Given the description of an element on the screen output the (x, y) to click on. 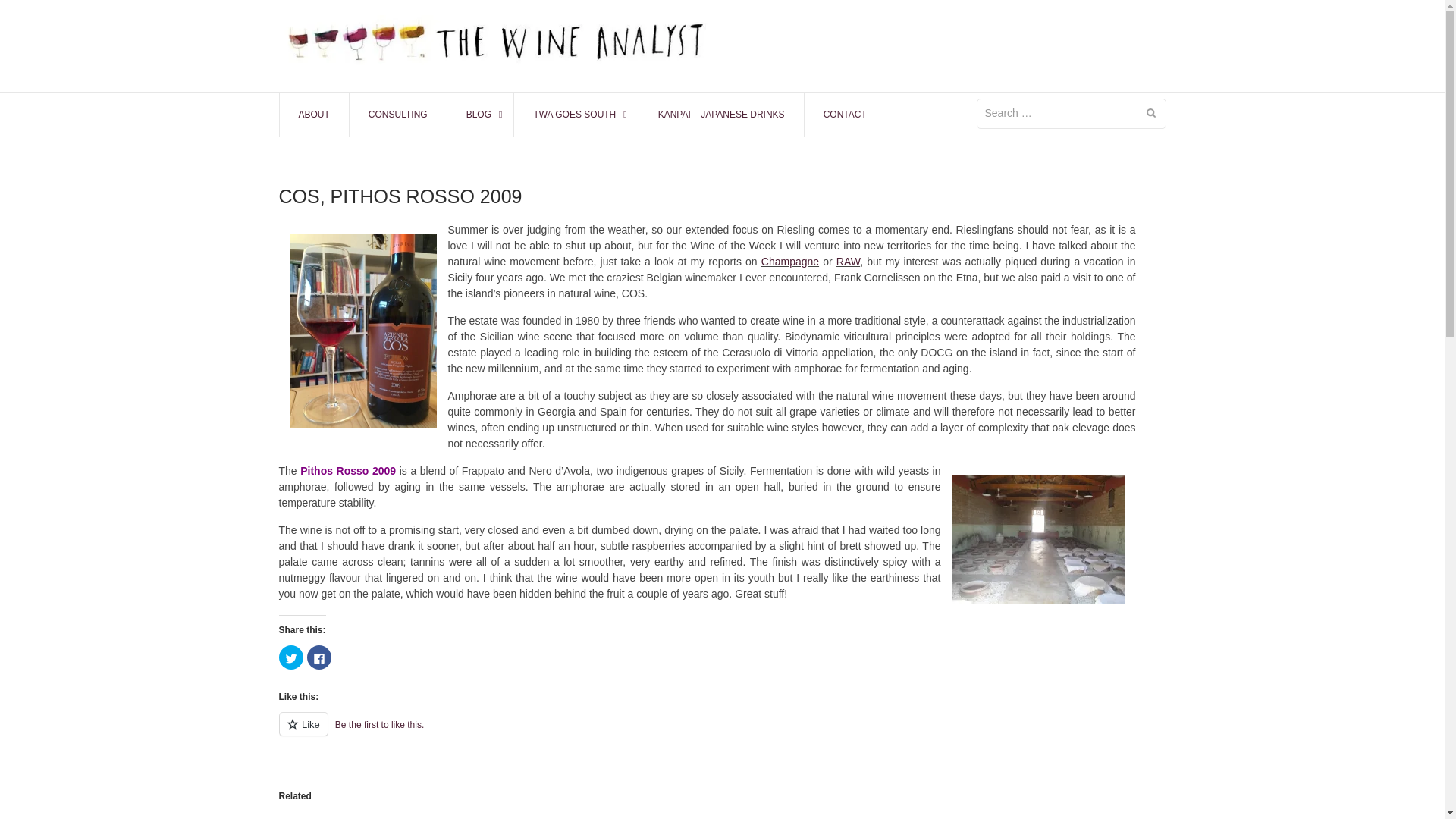
Click to share on Twitter (290, 657)
Search (1150, 113)
RAW (847, 261)
CONSULTING (398, 114)
Champagne (789, 261)
Search (1150, 113)
TWA GOES SOUTH (575, 114)
Click to share on Facebook (317, 657)
Search (1150, 113)
CONTACT (845, 114)
